Given the description of an element on the screen output the (x, y) to click on. 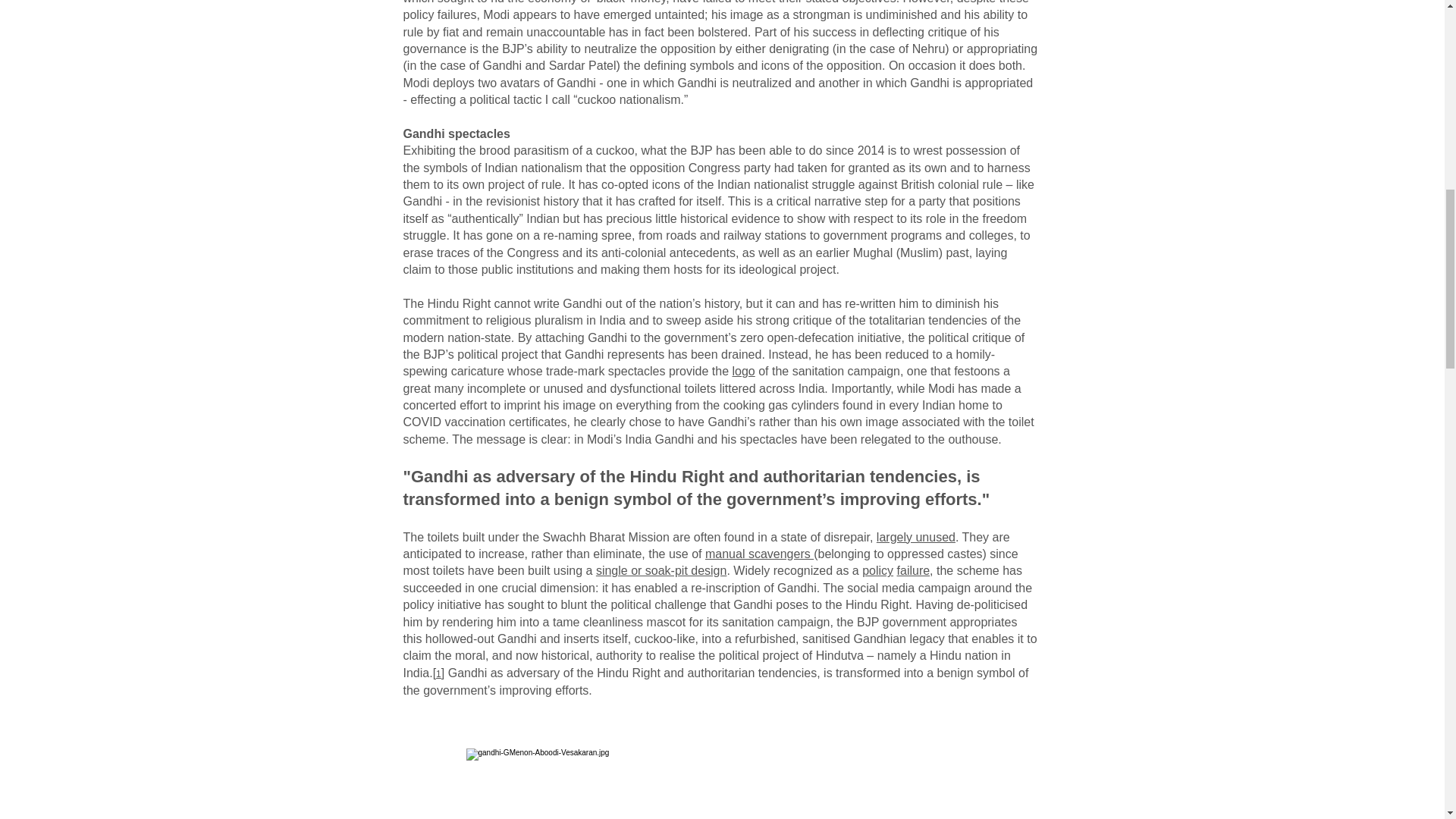
policy (877, 570)
failure (913, 570)
manual scavengers (758, 553)
logo (743, 370)
largely unused (915, 536)
single or soak-pit design (660, 570)
